Given the description of an element on the screen output the (x, y) to click on. 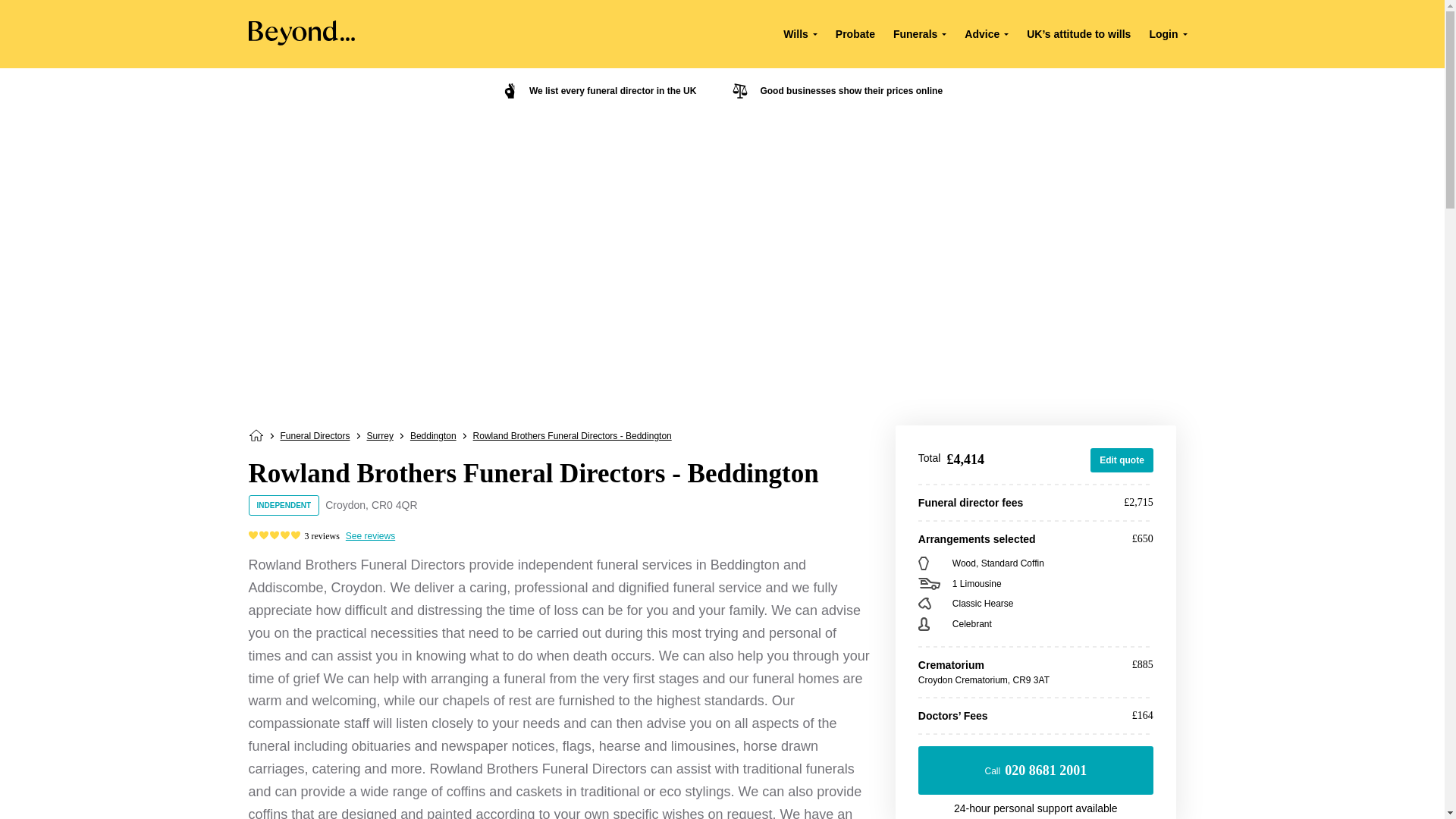
Beyond (301, 41)
Back to homepage (255, 438)
Surrey (379, 435)
See reviews (370, 535)
Homepage (255, 438)
Funeral Directors (315, 435)
Rowland Brothers Funeral Directors - Beddington (572, 435)
Surrey (379, 435)
Beddington (433, 435)
Funeral Directors (315, 435)
Probate (855, 33)
Beddington (433, 435)
Rowland Brothers Funeral Directors - Beddington (572, 435)
